Given the description of an element on the screen output the (x, y) to click on. 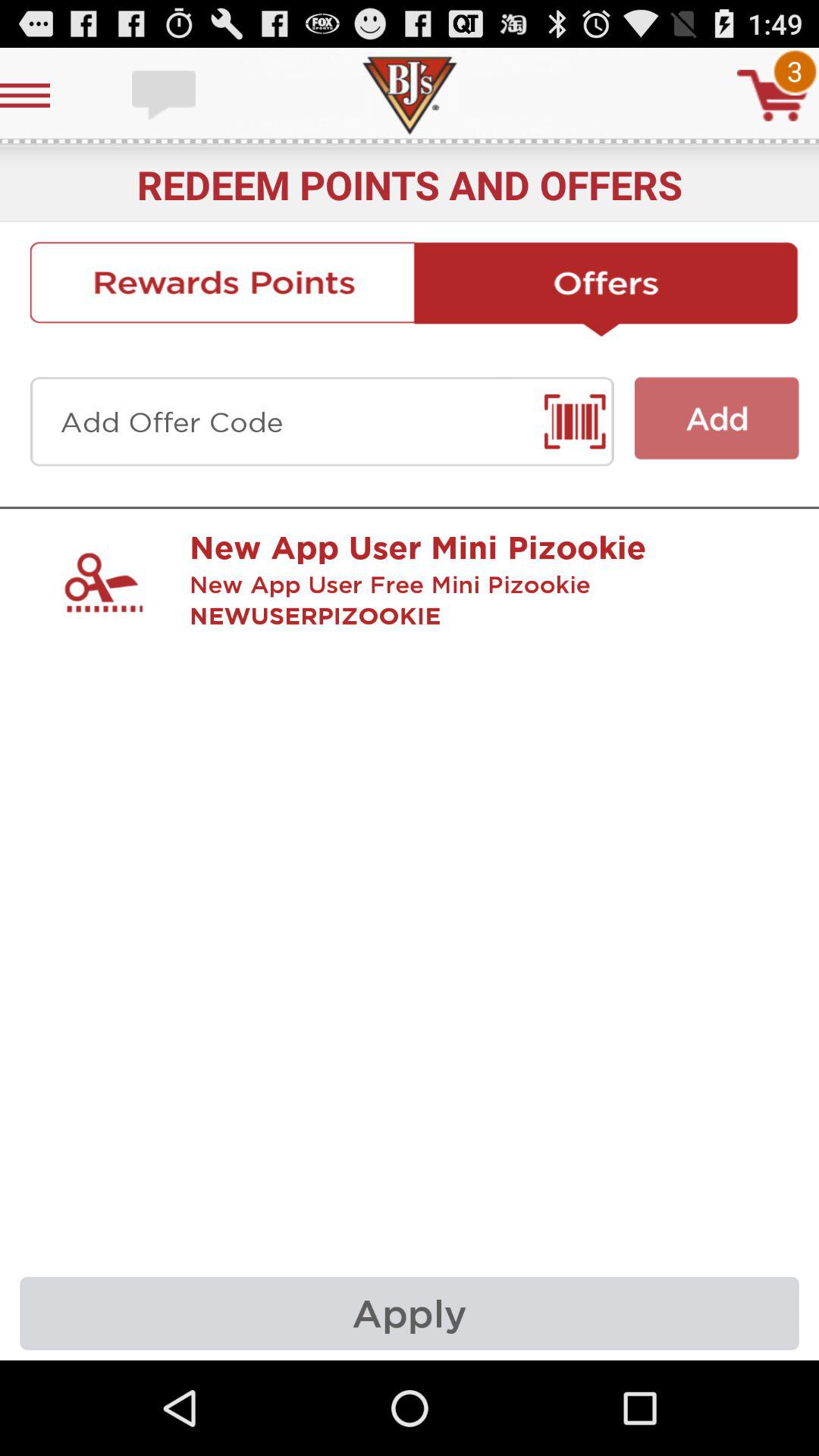
click to the ofers (606, 289)
